Given the description of an element on the screen output the (x, y) to click on. 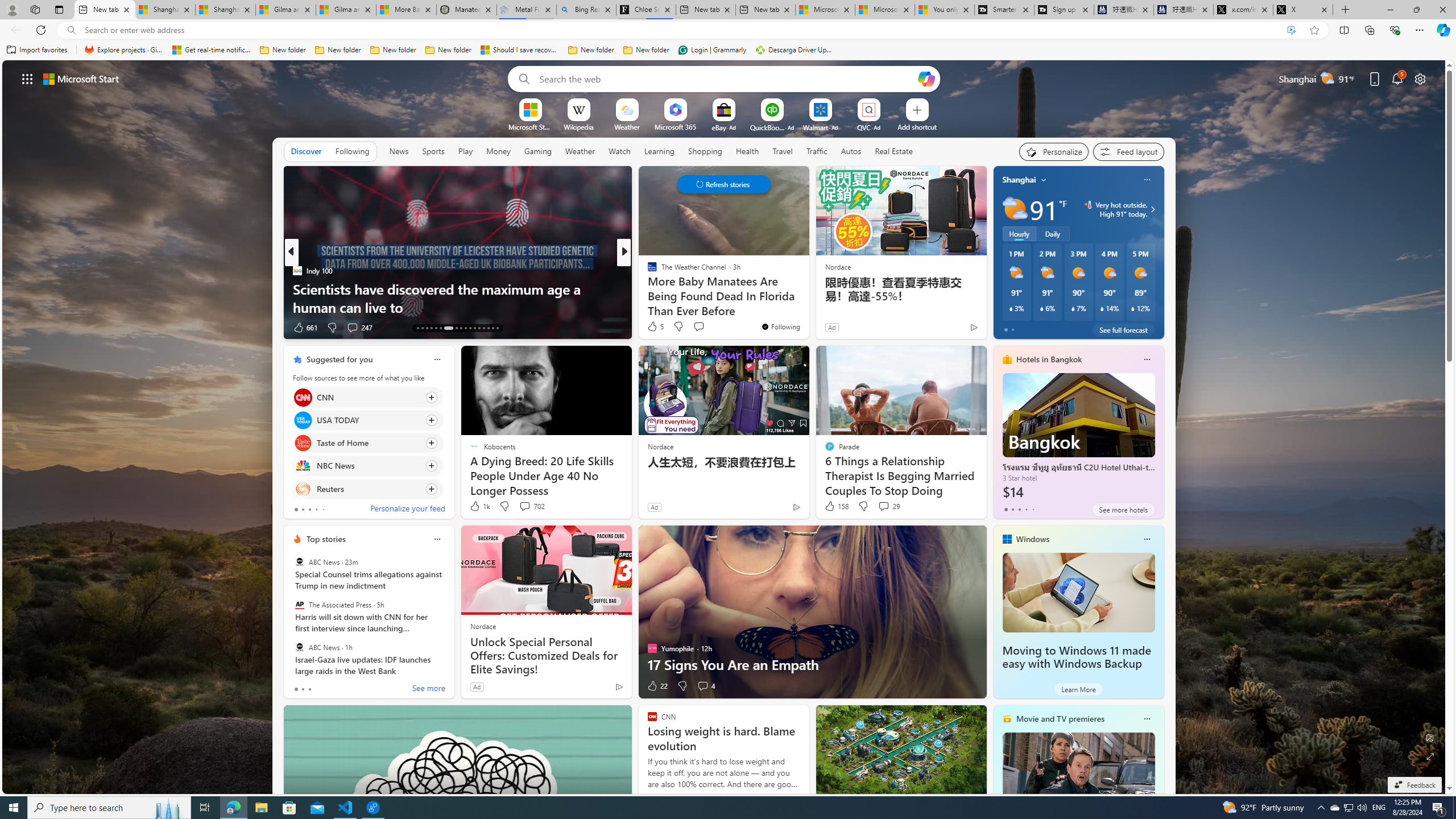
Reuters (302, 488)
Money (497, 151)
Click to follow source Taste of Home (367, 442)
View comments 6 Comment (705, 327)
Hourly (1018, 233)
View comments 29 Comment (888, 505)
See full forecast (1123, 329)
269 Like (654, 327)
Travel (782, 151)
View comments 247 Comment (352, 327)
Forge of Empires (668, 288)
Gilma and Hector both pose tropical trouble for Hawaii (346, 9)
